Given the description of an element on the screen output the (x, y) to click on. 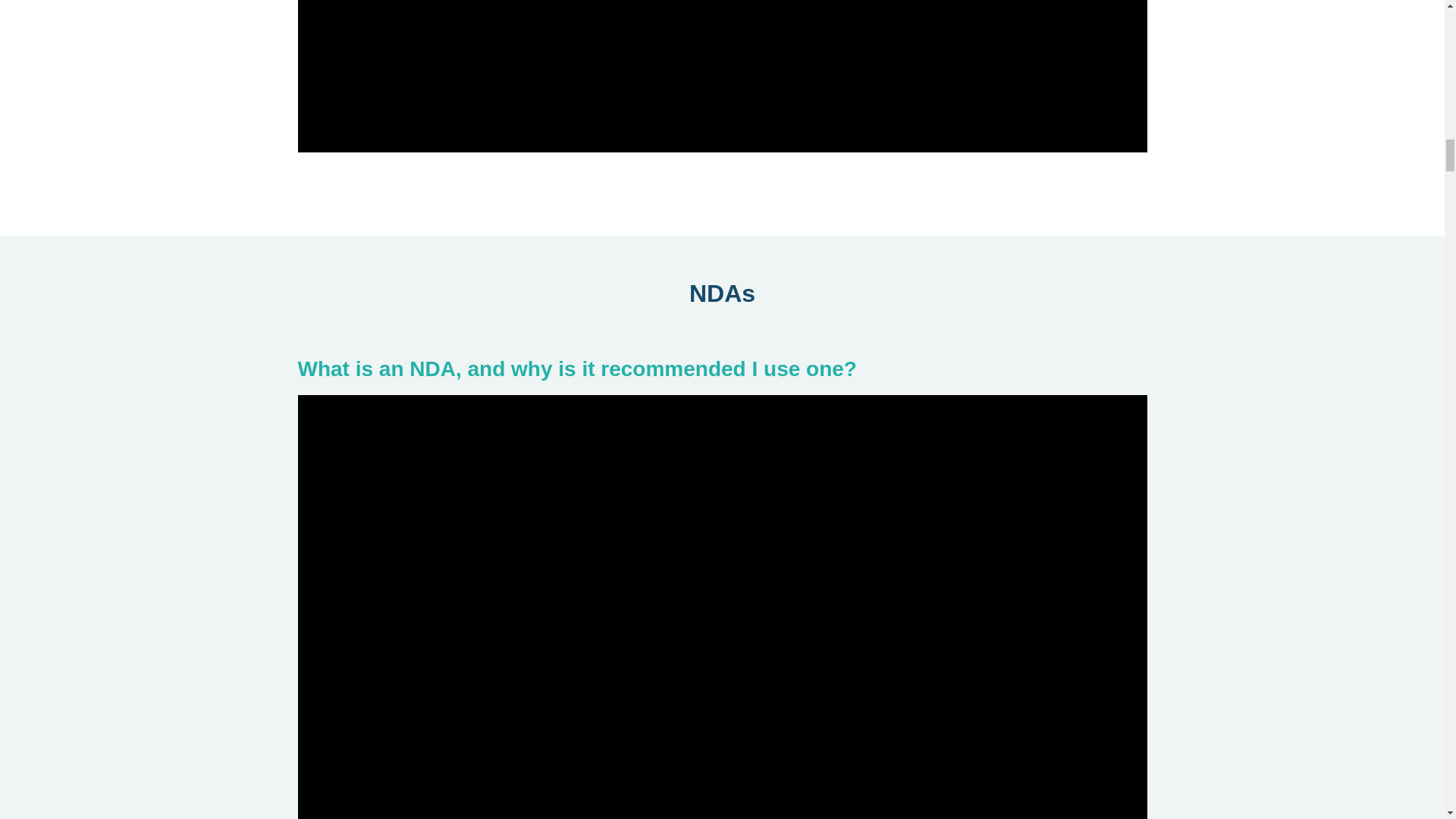
vimeo Video Player (722, 76)
